Given the description of an element on the screen output the (x, y) to click on. 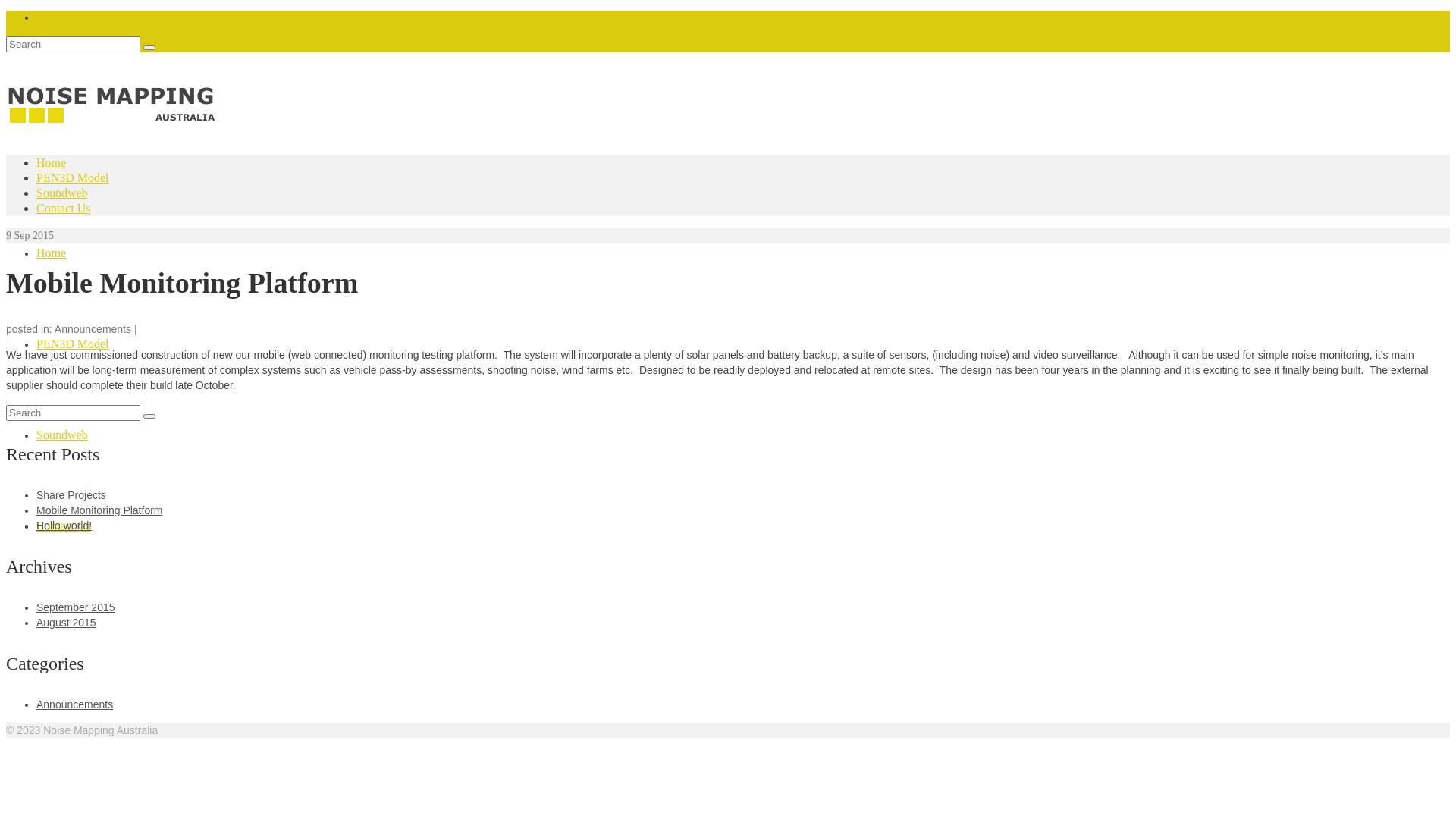
Hello world! Element type: text (63, 525)
Noise Mapping Australia Element type: hover (727, 116)
Soundweb Element type: text (61, 192)
Announcements Element type: text (92, 329)
PEN3D Model Element type: text (72, 343)
Home Element type: text (50, 162)
Contact Us Element type: text (63, 207)
Announcements Element type: text (74, 704)
Contact Us Element type: text (63, 525)
Share Projects Element type: text (71, 495)
Home Element type: text (50, 252)
September 2015 Element type: text (75, 607)
Mobile Monitoring Platform Element type: text (99, 510)
PEN3D Model Element type: text (72, 177)
Soundweb Element type: text (61, 434)
August 2015 Element type: text (66, 622)
